Given the description of an element on the screen output the (x, y) to click on. 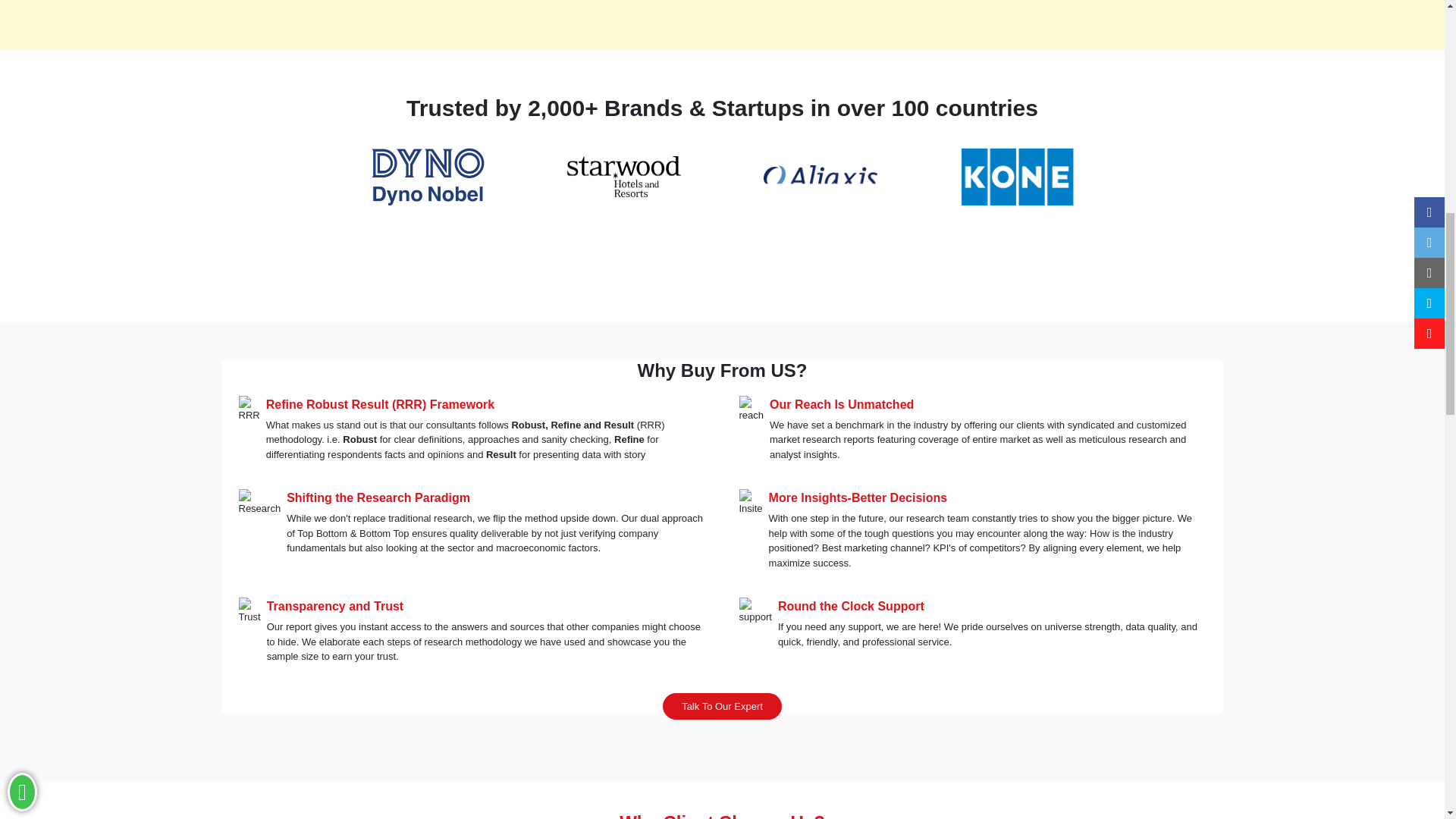
Talk To Our Expert (721, 705)
